Given the description of an element on the screen output the (x, y) to click on. 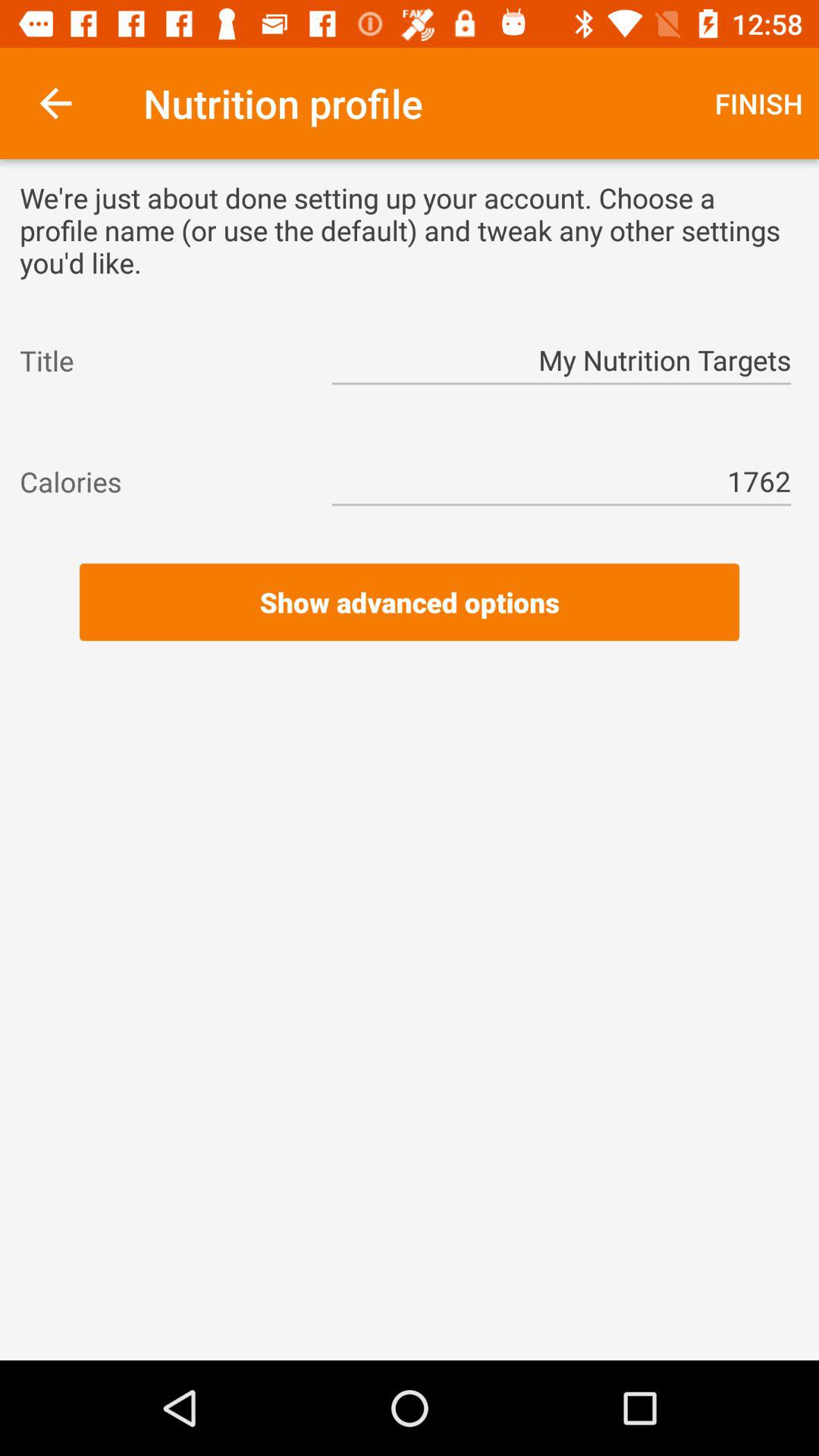
open the title item (161, 360)
